Given the description of an element on the screen output the (x, y) to click on. 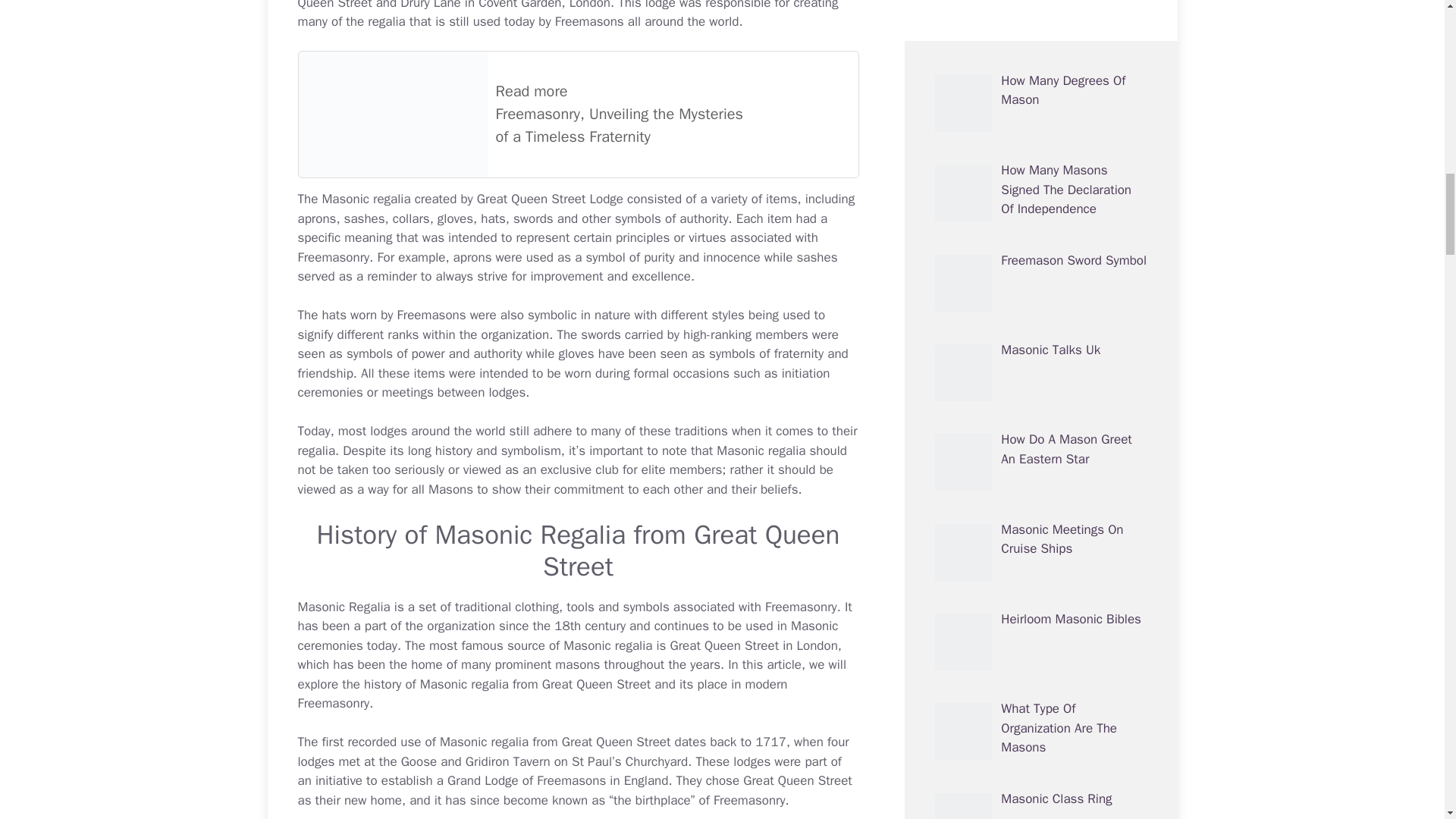
Masonic regalia (365, 198)
What Does A Glove Symbolize (575, 353)
Famous Masonic Actors (535, 645)
Masons (450, 489)
What Is The Freemason Symbol (486, 314)
gloves (575, 353)
Grand Lodge of Freemasons (525, 780)
Freemasons were also symbolic (486, 314)
What To Do With Old Masonic Regalia (365, 198)
